Given the description of an element on the screen output the (x, y) to click on. 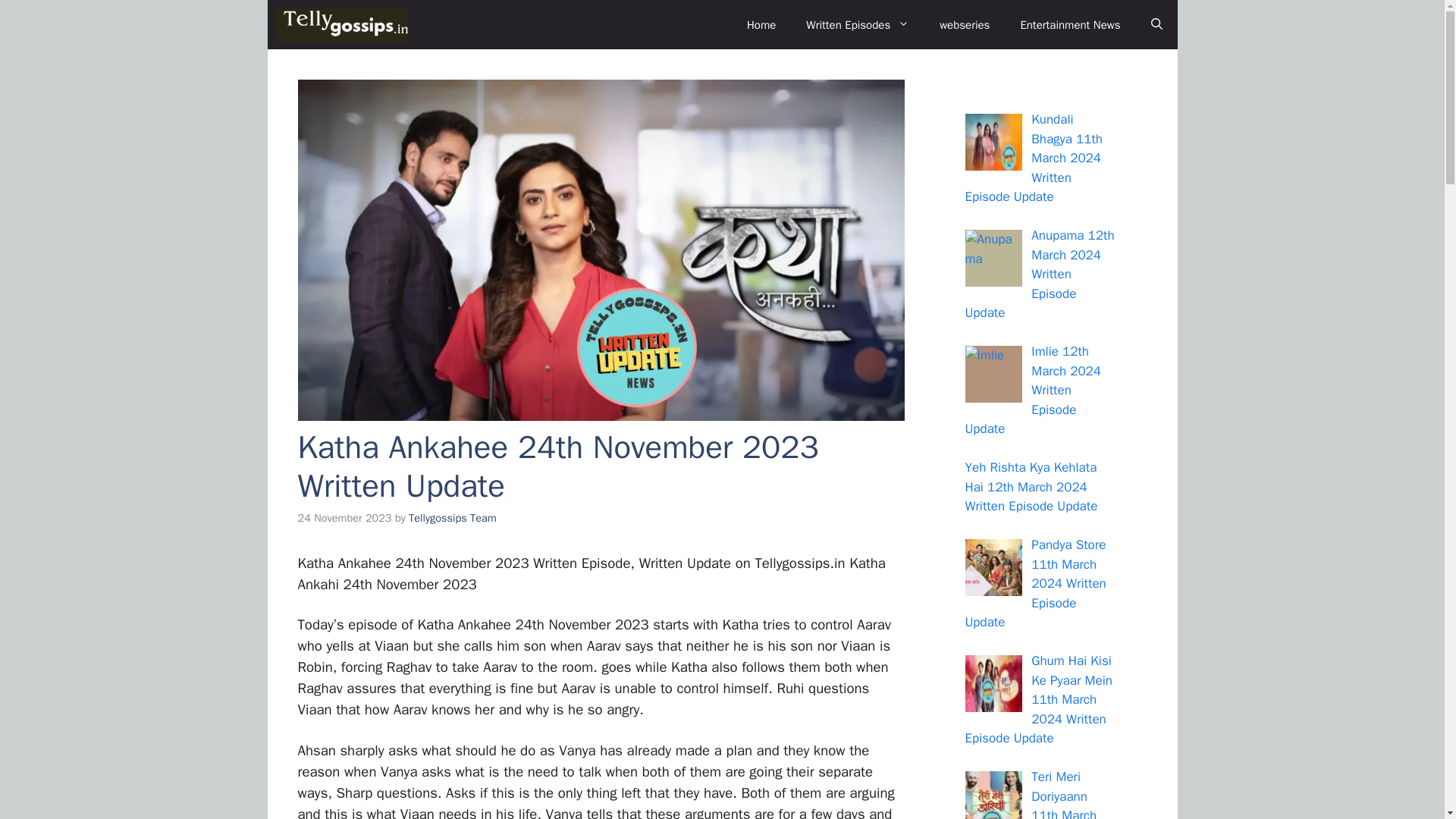
View all posts by Tellygossips Team (452, 517)
Home (761, 23)
Tellygossips.in (341, 24)
Written Episodes (857, 23)
